Given the description of an element on the screen output the (x, y) to click on. 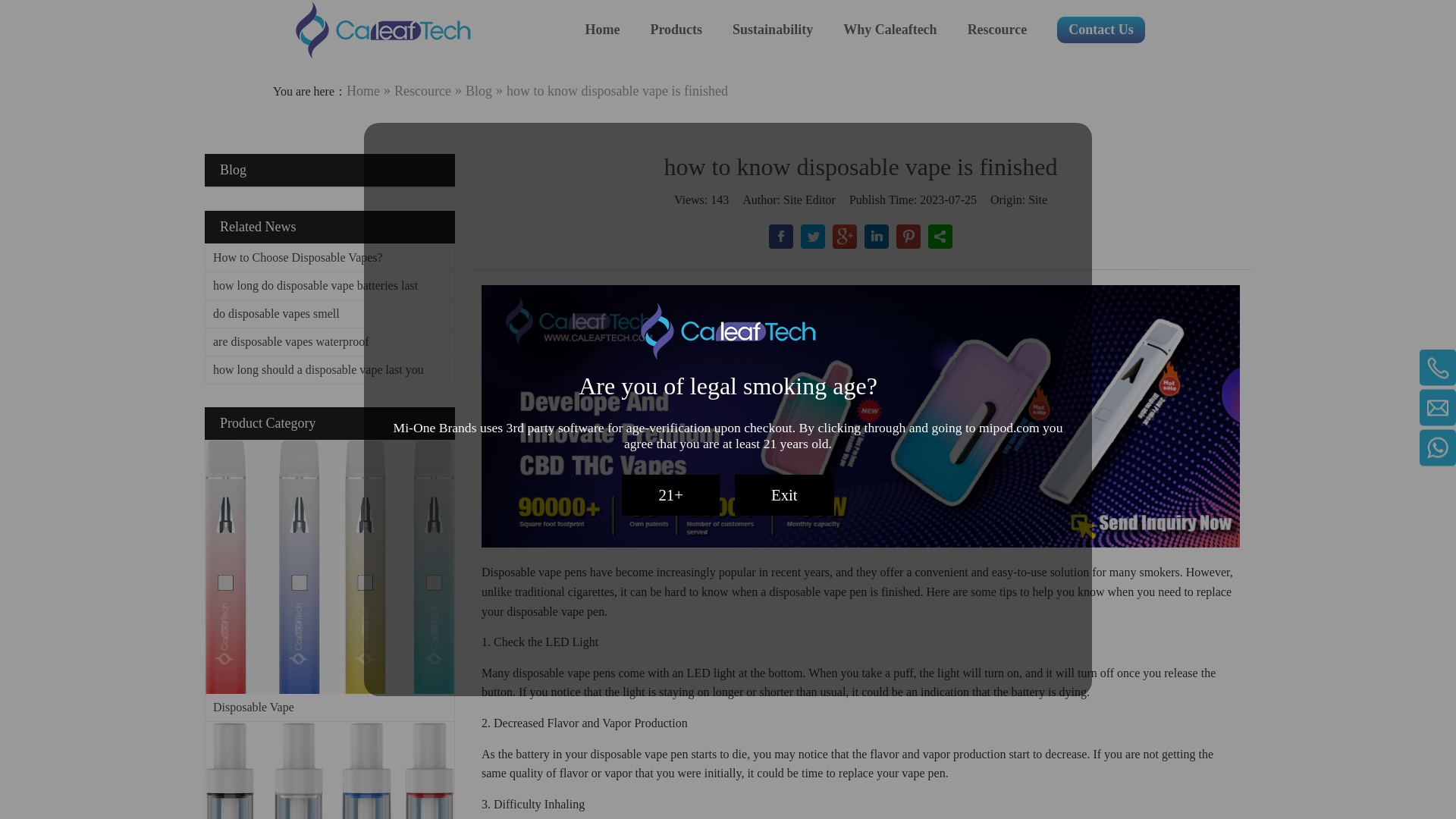
Contact Us (1100, 29)
Disposable Vape (329, 566)
Products (675, 30)
Home (602, 30)
Vape Cartridge (329, 770)
Sustainability (772, 30)
Rescource (997, 30)
Caleaftech (382, 30)
Why Caleaftech (889, 30)
